Given the description of an element on the screen output the (x, y) to click on. 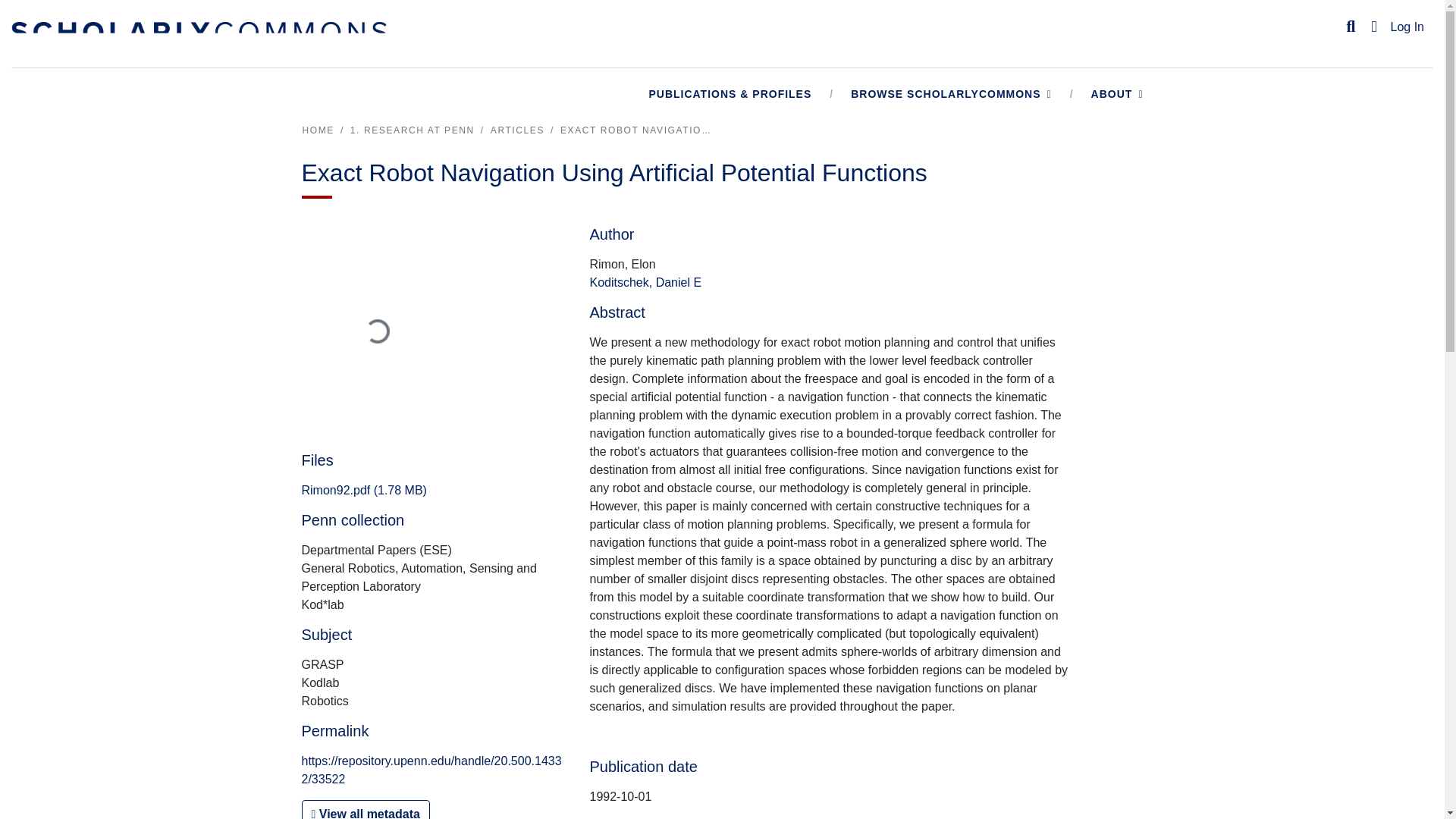
Koditschek, Daniel E (645, 282)
ABOUT (1117, 94)
Log In (1406, 26)
ARTICLES (517, 130)
BROWSE SCHOLARLYCOMMONS (951, 94)
View all metadata (365, 809)
Language switch (1374, 27)
1. RESEARCH AT PENN (412, 130)
HOME (317, 130)
Search (1350, 27)
